Given the description of an element on the screen output the (x, y) to click on. 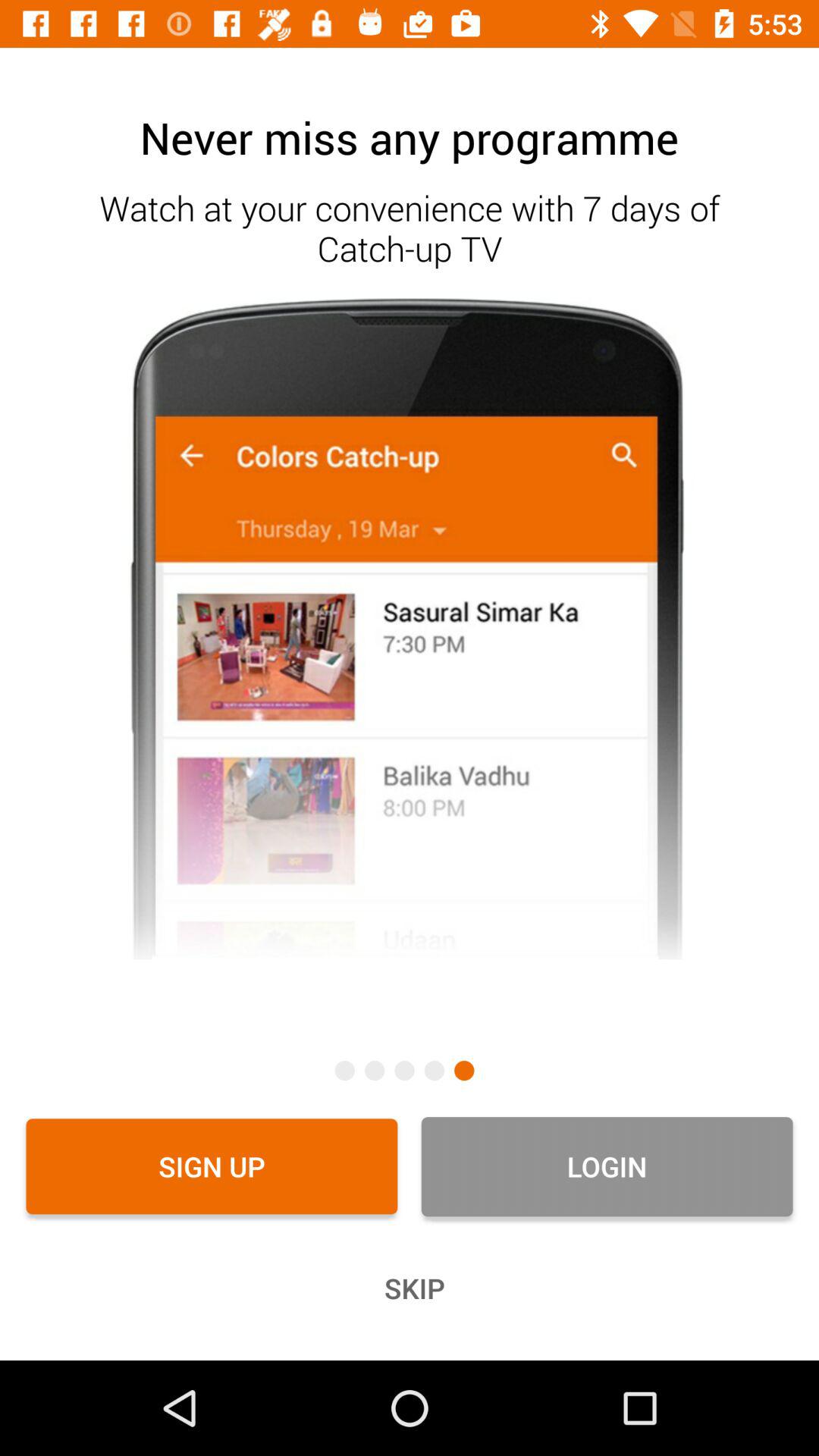
scroll to the login item (606, 1166)
